Given the description of an element on the screen output the (x, y) to click on. 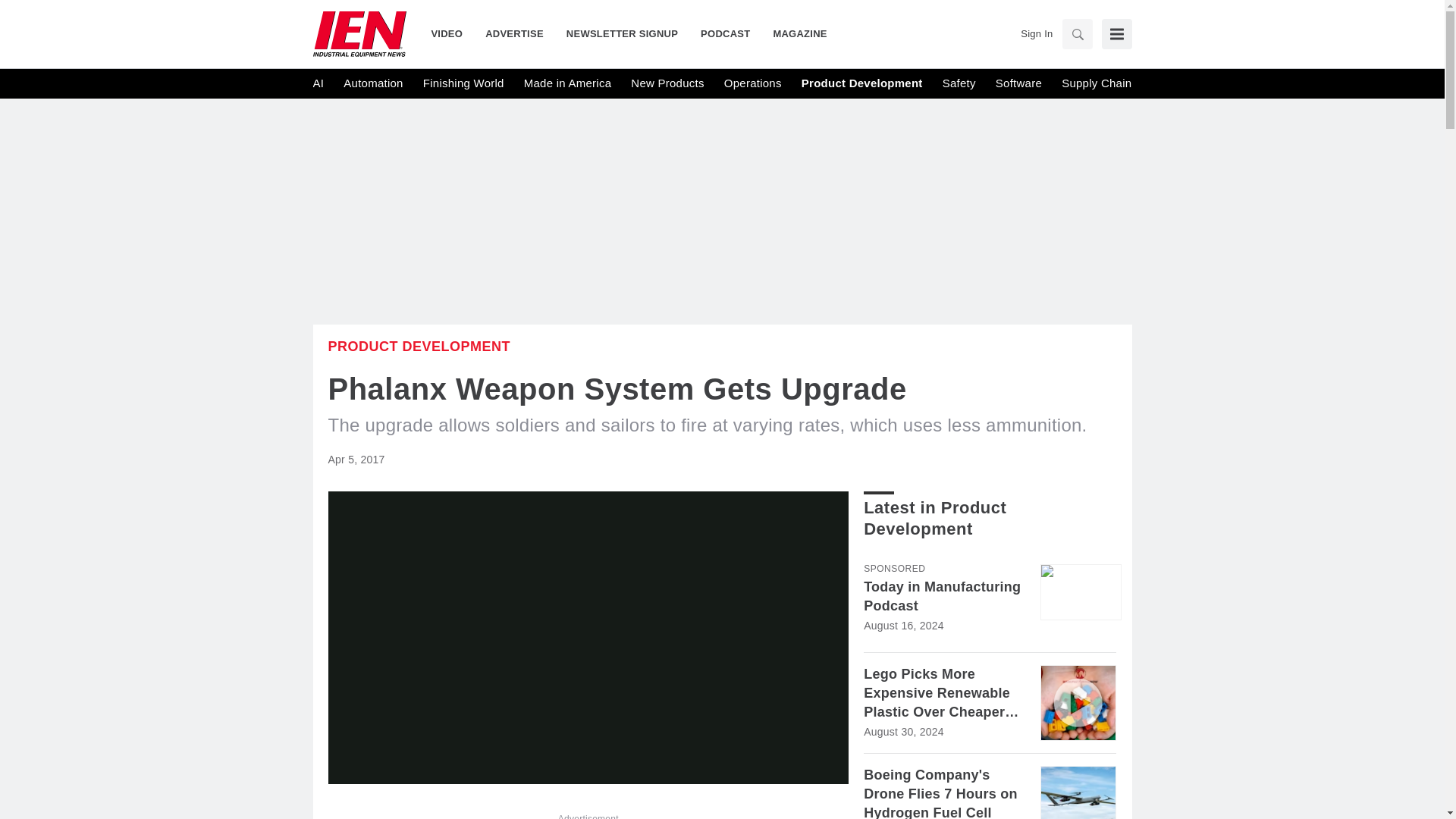
NEWSLETTER SIGNUP (621, 33)
Finishing World (463, 83)
Product Development (419, 346)
MAGAZINE (794, 33)
Supply Chain (1096, 83)
Made in America (567, 83)
Sponsored (893, 568)
Sign In (1036, 33)
ADVERTISE (514, 33)
Operations (752, 83)
